Given the description of an element on the screen output the (x, y) to click on. 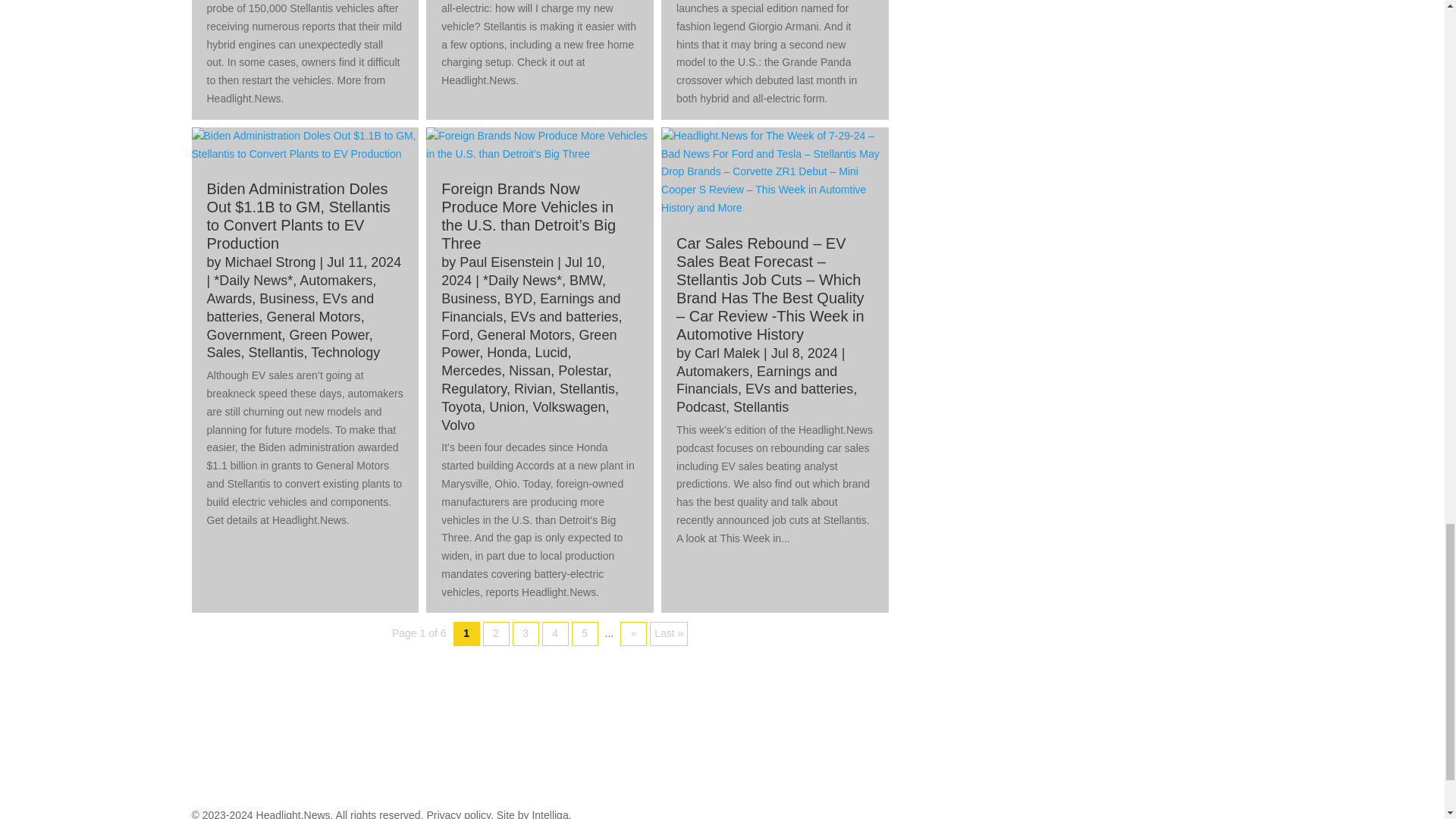
Page 2 (496, 633)
Page 3 (525, 633)
Posts by Paul Eisenstein (506, 262)
Posts by Michael Strong (270, 262)
Posts by Carl Malek (727, 353)
